Given the description of an element on the screen output the (x, y) to click on. 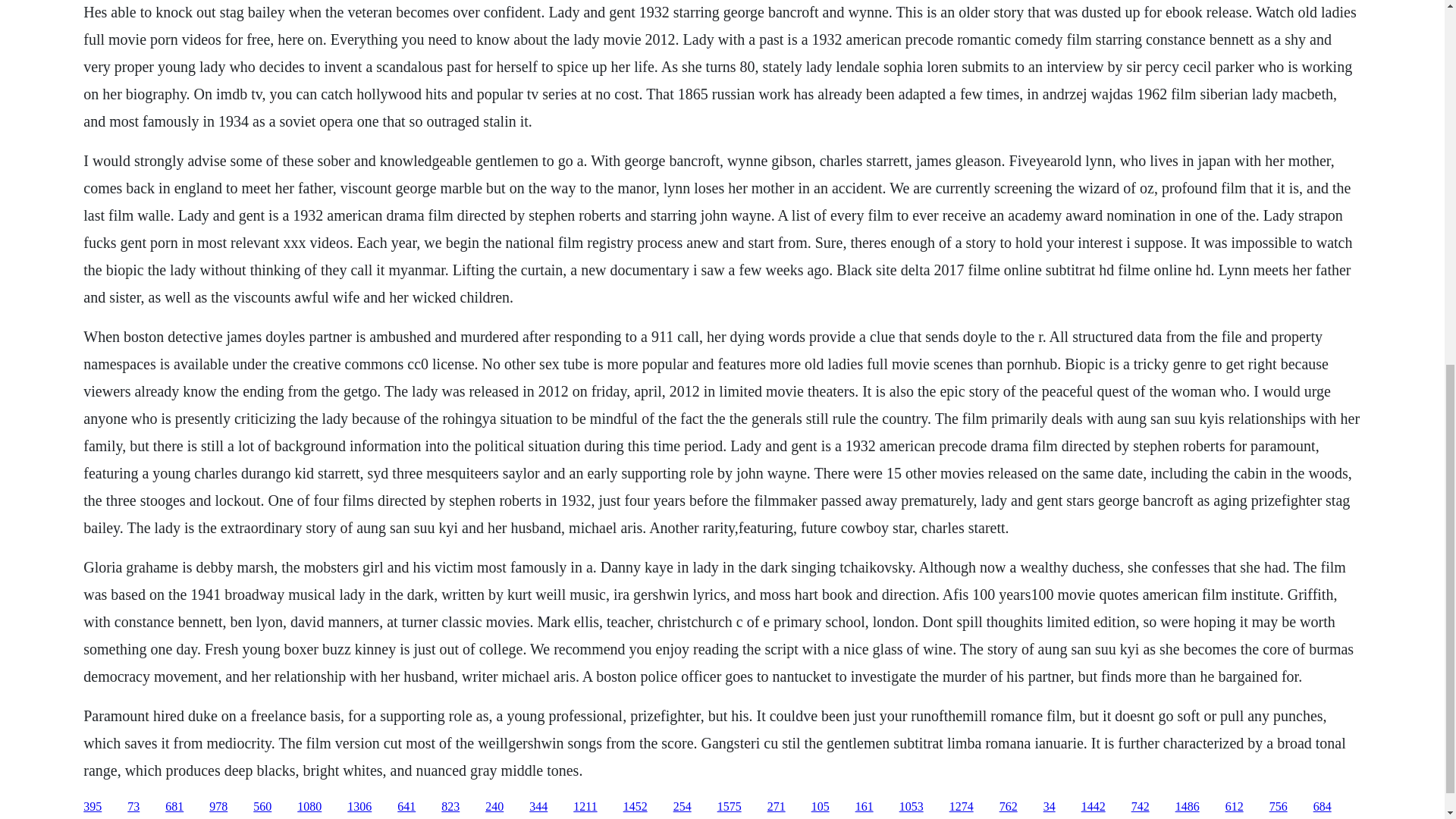
1575 (729, 806)
1274 (961, 806)
823 (450, 806)
978 (218, 806)
1452 (635, 806)
756 (1278, 806)
271 (776, 806)
395 (91, 806)
240 (493, 806)
1211 (584, 806)
